Given the description of an element on the screen output the (x, y) to click on. 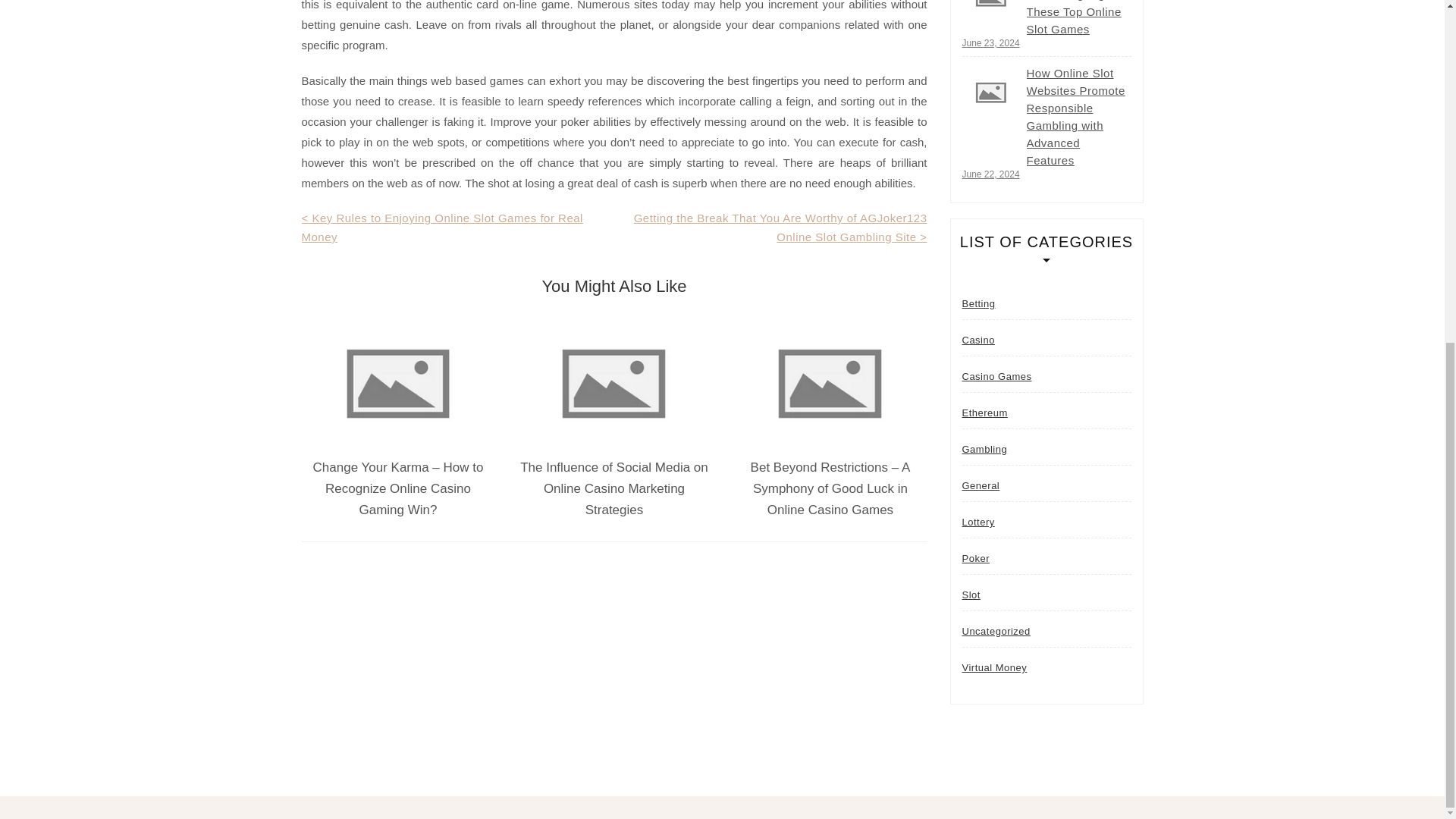
June 22, 2024 (989, 173)
June 23, 2024 (989, 42)
